Given the description of an element on the screen output the (x, y) to click on. 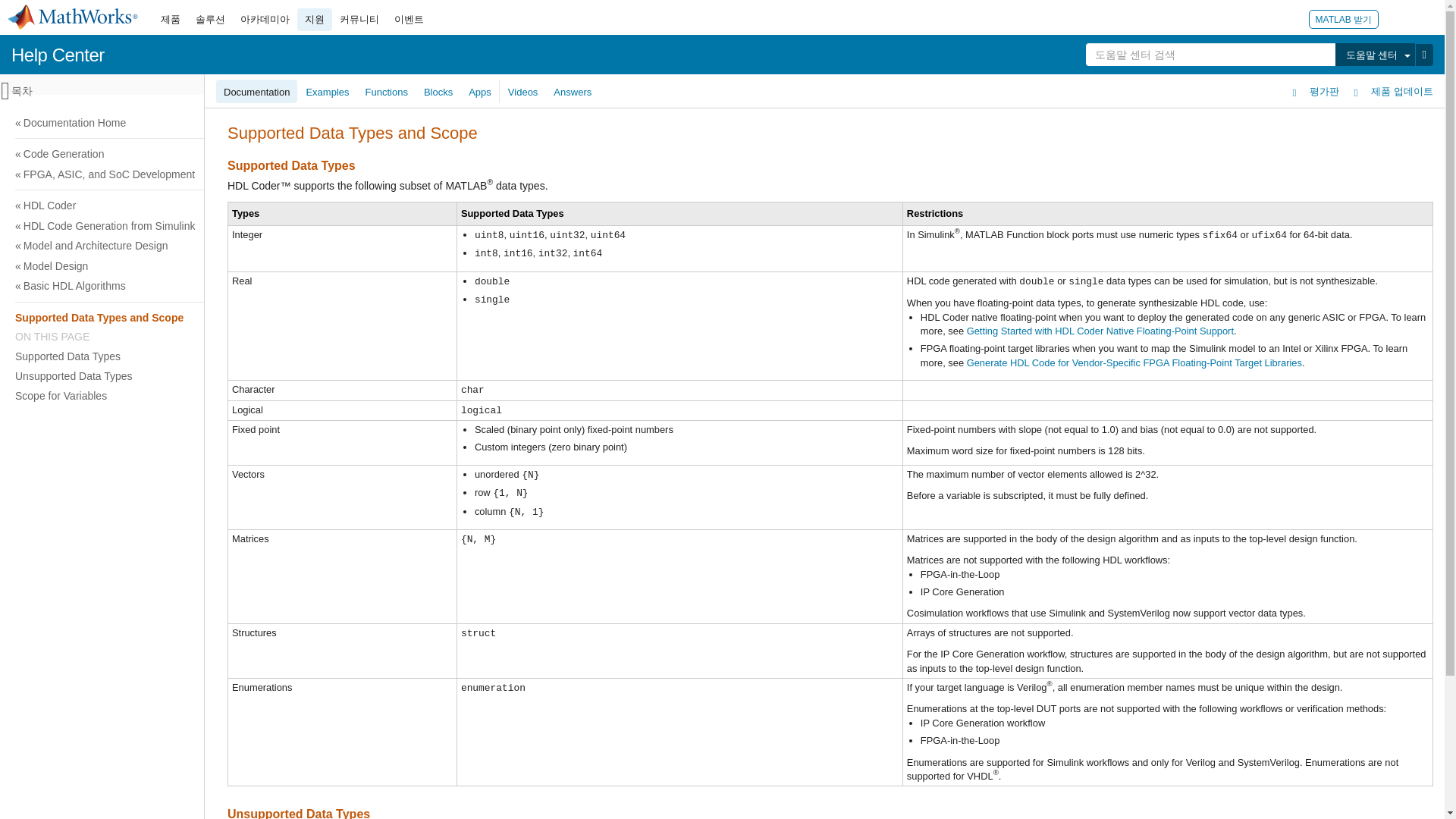
Model Design (720, 266)
FPGA, ASIC, and SoC Development (720, 174)
HDL Coder (720, 205)
Code Generation (720, 153)
Supported Data Types and Scope (718, 317)
Model and Architecture Design (720, 245)
Supported Data Types and Scope (720, 317)
Help Center (57, 54)
Basic HDL Algorithms (720, 285)
Documentation Home (720, 122)
HDL Code Generation from Simulink (720, 225)
